Given the description of an element on the screen output the (x, y) to click on. 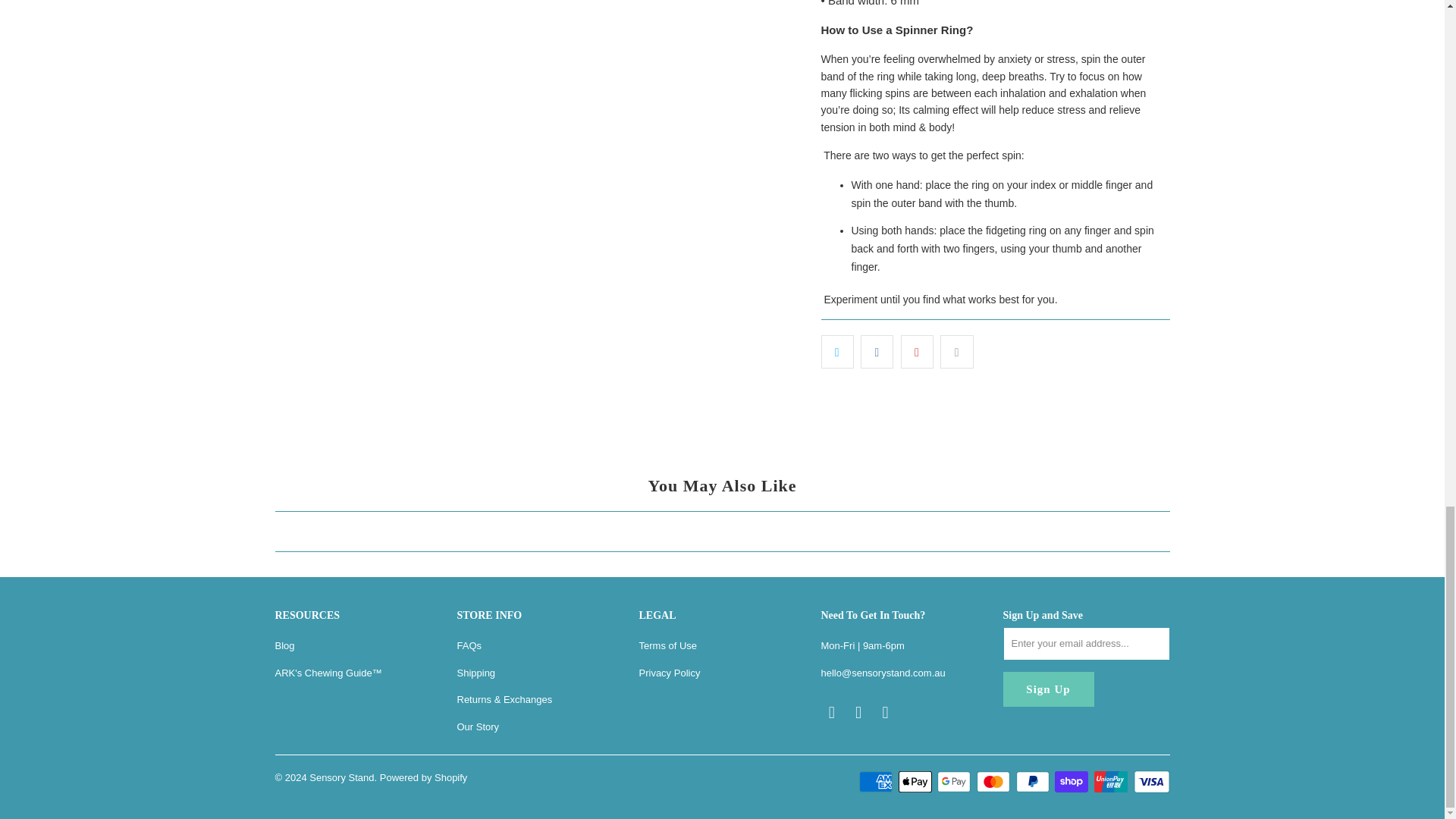
Shop Pay (1072, 781)
Sensory Stand on Facebook (832, 712)
PayPal (1034, 781)
Union Pay (1112, 781)
Sensory Stand on Instagram (858, 712)
Visa (1150, 781)
Share this on Twitter (837, 351)
Mastercard (994, 781)
Google Pay (955, 781)
Share this on Facebook (876, 351)
Sign Up (1048, 688)
Email this to a friend (956, 351)
Share this on Pinterest (917, 351)
Apple Pay (916, 781)
Sensory Stand on TikTok (885, 712)
